Given the description of an element on the screen output the (x, y) to click on. 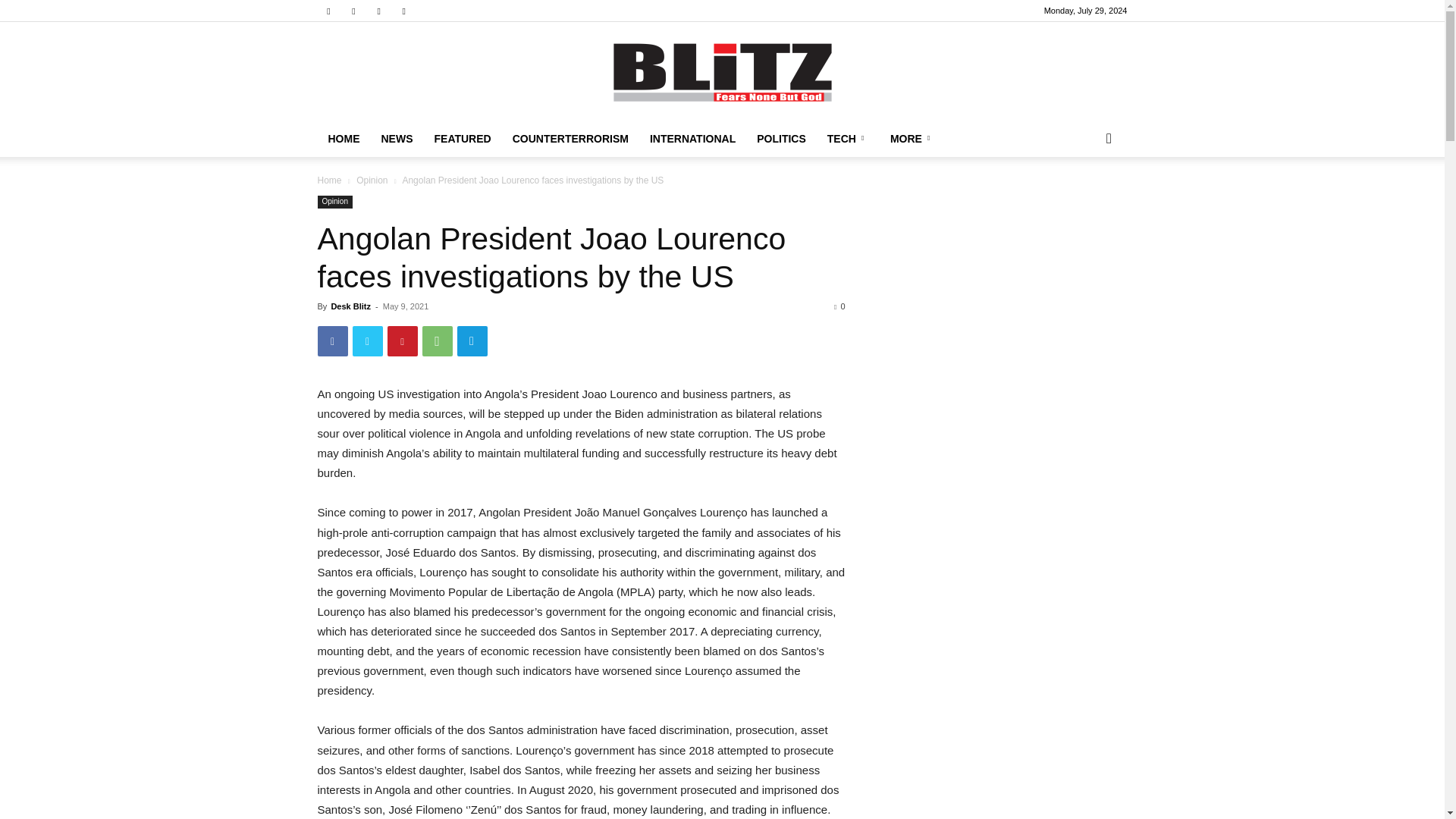
POLITICS (780, 138)
Facebook (328, 10)
NEWS (396, 138)
Facebook (332, 340)
Telegram (353, 10)
Twitter (366, 340)
TECH (847, 138)
COUNTERTERRORISM (570, 138)
Pinterest (401, 340)
HOME (343, 138)
View all posts in Opinion (371, 180)
Twitter (379, 10)
BLiTZ (721, 72)
INTERNATIONAL (692, 138)
FEATURED (461, 138)
